Given the description of an element on the screen output the (x, y) to click on. 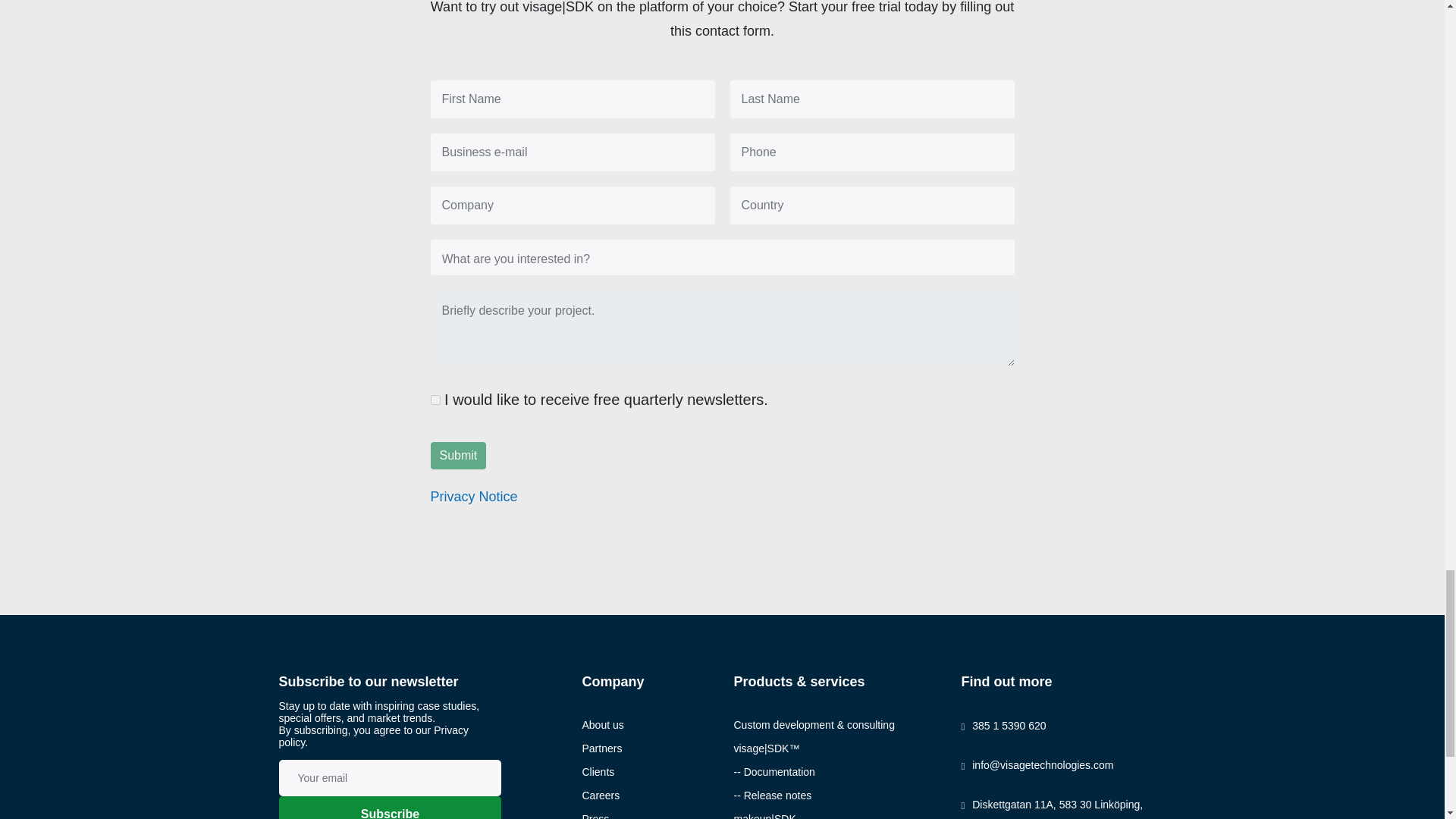
1 (435, 399)
Subscribe (390, 807)
Submit (458, 455)
